Given the description of an element on the screen output the (x, y) to click on. 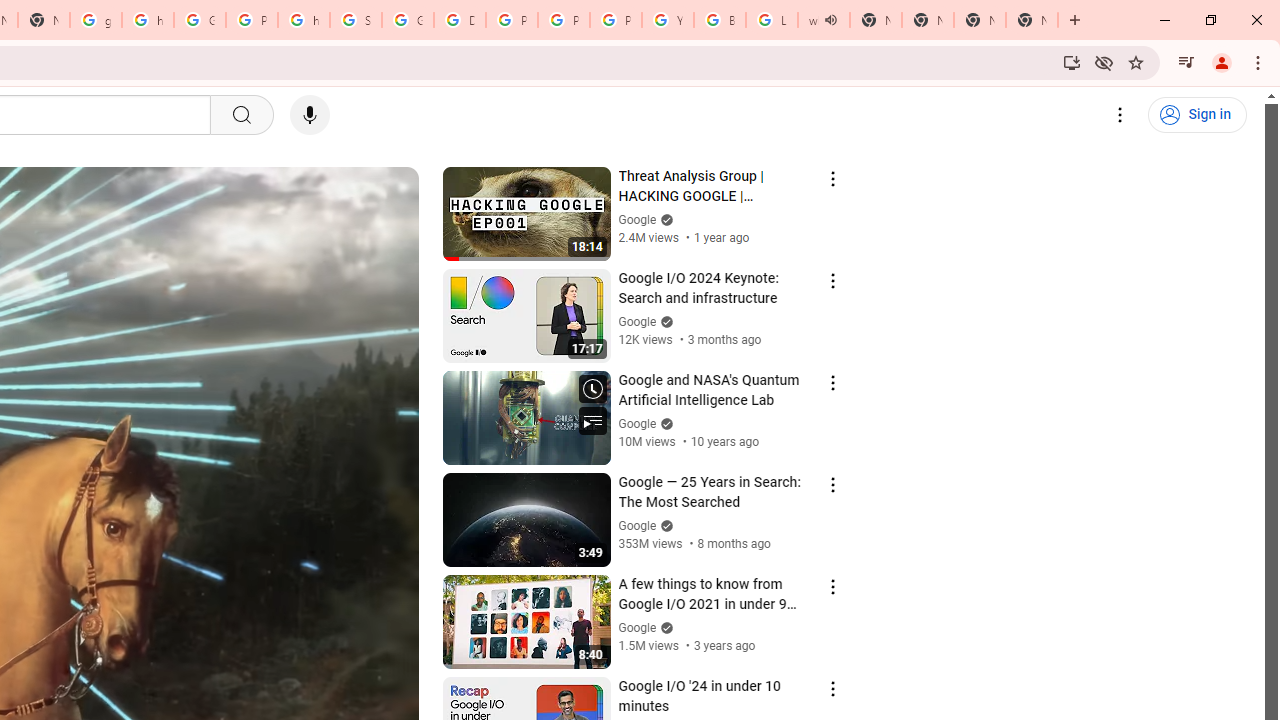
Sign in (1197, 115)
Privacy Help Center - Policies Help (563, 20)
New Tab (1032, 20)
https://scholar.google.com/ (147, 20)
YouTube (667, 20)
Search (240, 115)
